Given the description of an element on the screen output the (x, y) to click on. 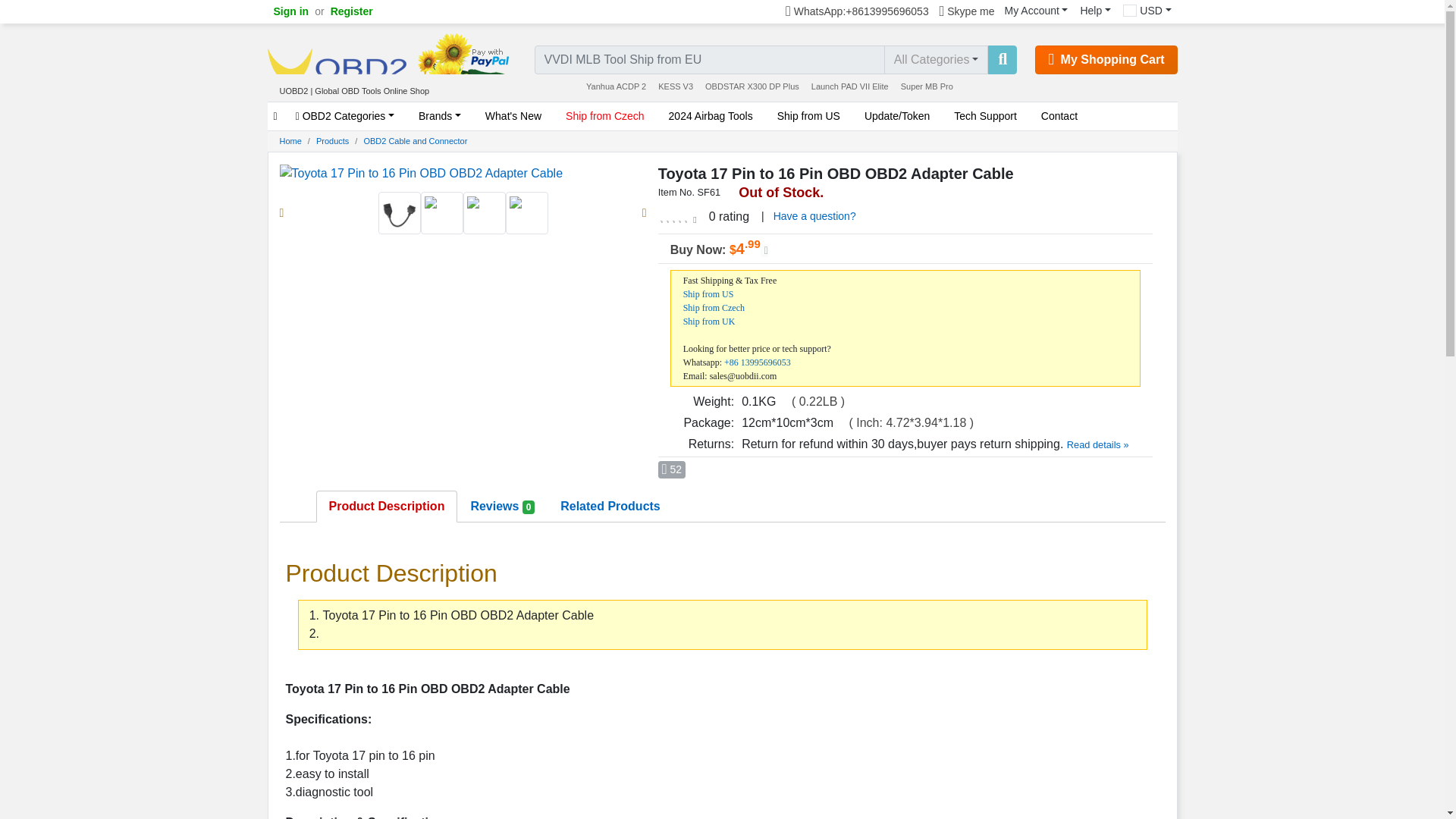
Skype:UOBD2.COM (967, 11)
Register (351, 11)
My Shopping Cart (1105, 59)
Push Me! (671, 469)
Skype me (967, 11)
Help (1095, 11)
USD (1146, 11)
All Categories (935, 59)
My Account (1036, 11)
Sign in (290, 11)
